Given the description of an element on the screen output the (x, y) to click on. 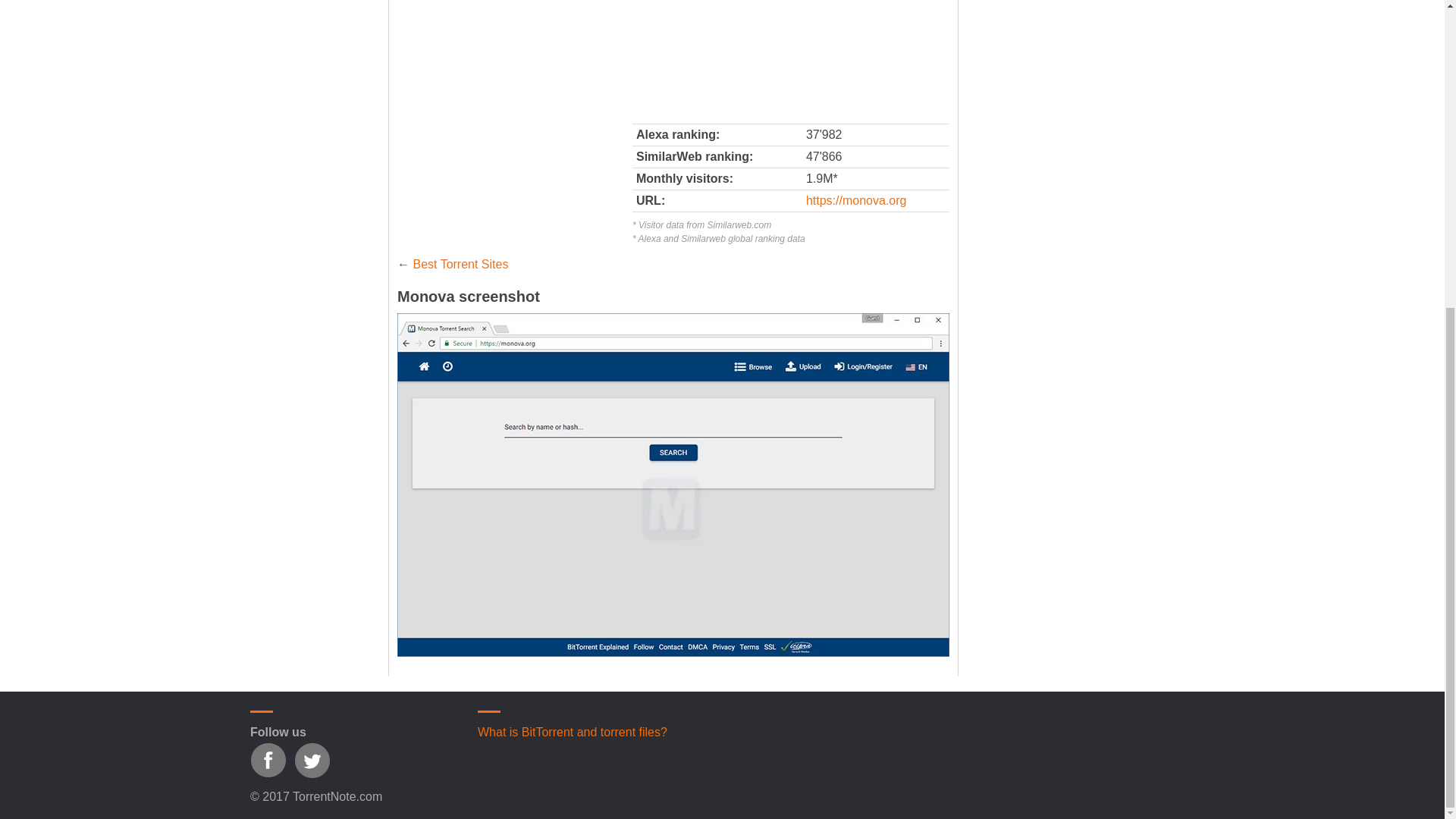
Facebook (268, 760)
Twitter (312, 760)
What is BitTorrent and torrent files? (571, 731)
Best Torrent Sites (460, 264)
